Given the description of an element on the screen output the (x, y) to click on. 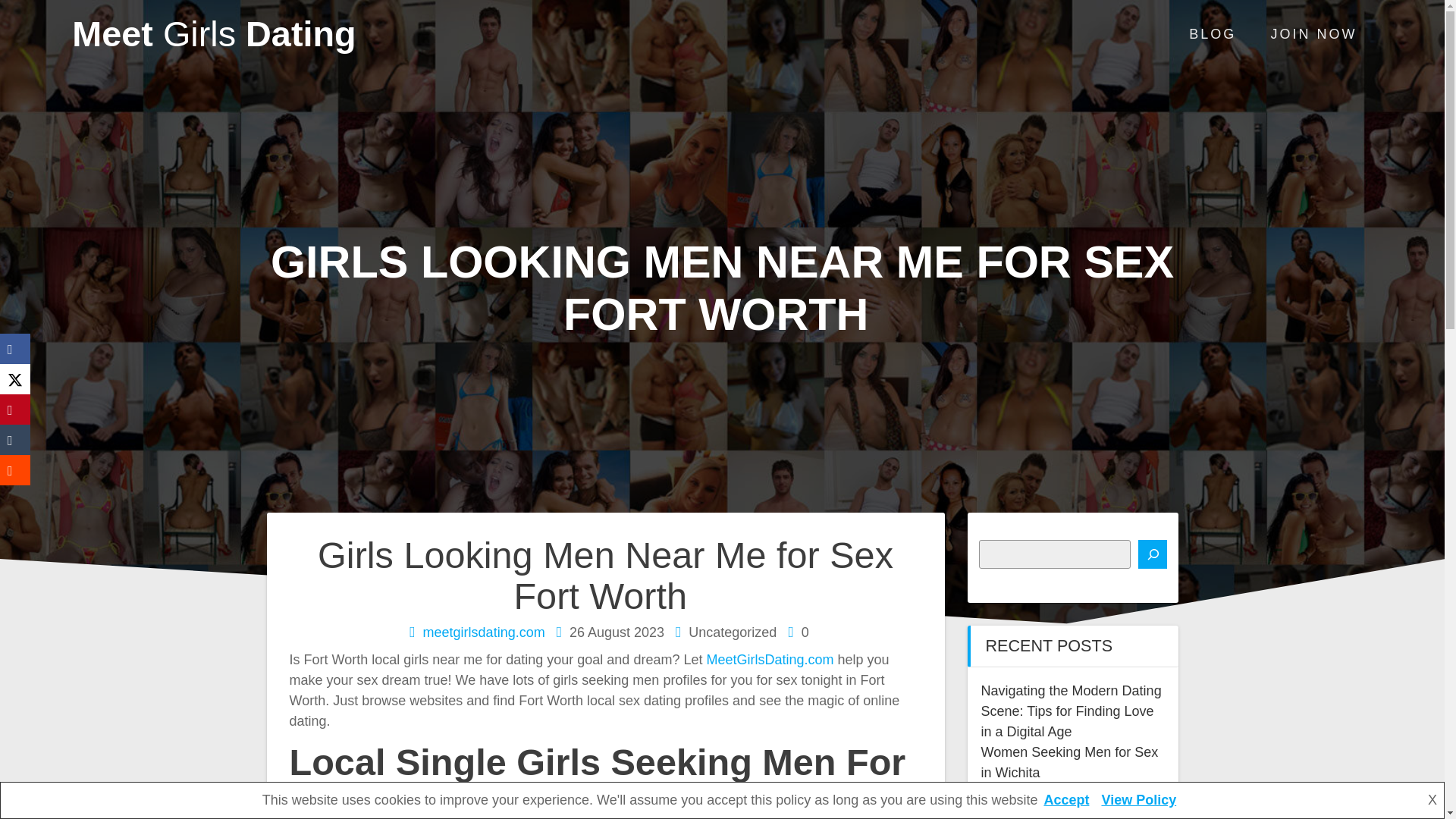
Women Seeking Men for Sex in Wichita  (1069, 762)
MeetGirlsDating.com (769, 659)
Accept (1065, 799)
View Policy (1138, 799)
Posts by meetgirlsdating.com (483, 631)
Women Seeking Men for Sex in Arlington  (1069, 802)
meetgirlsdating.com (483, 631)
JOIN NOW (1313, 34)
Meet Girls Dating (213, 34)
